Given the description of an element on the screen output the (x, y) to click on. 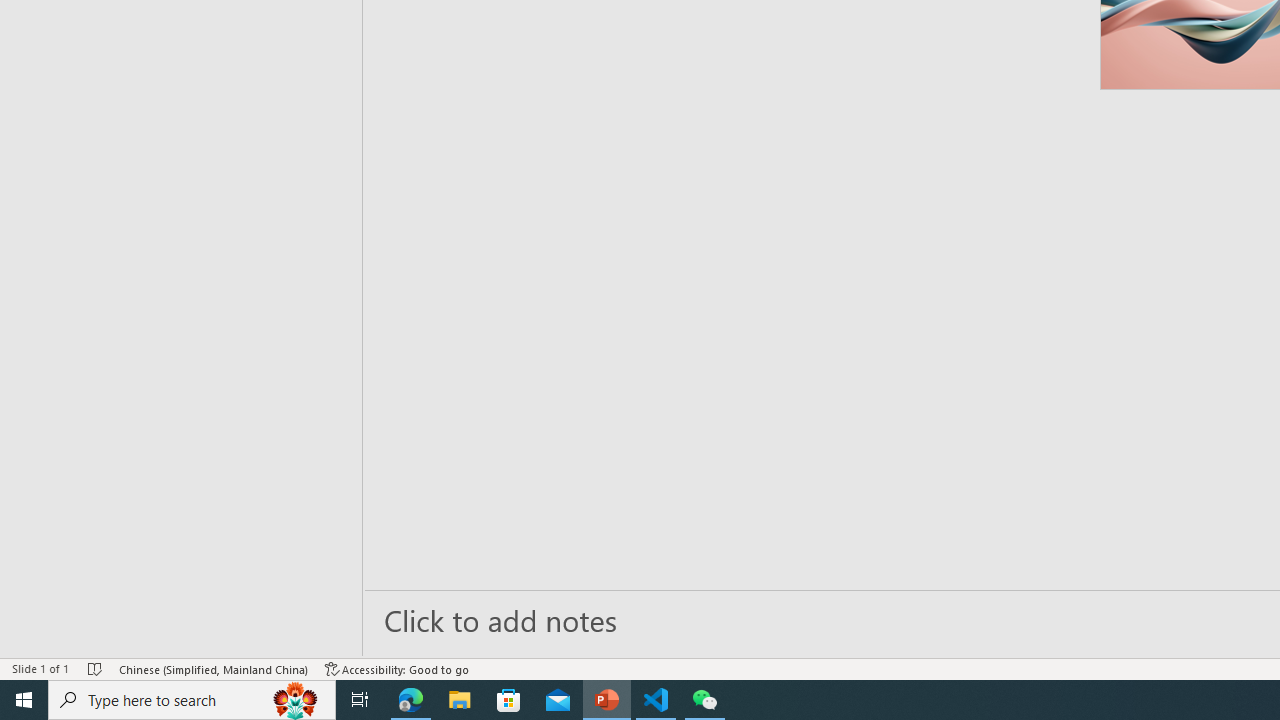
Accessibility Checker Accessibility: Good to go (397, 668)
